Given the description of an element on the screen output the (x, y) to click on. 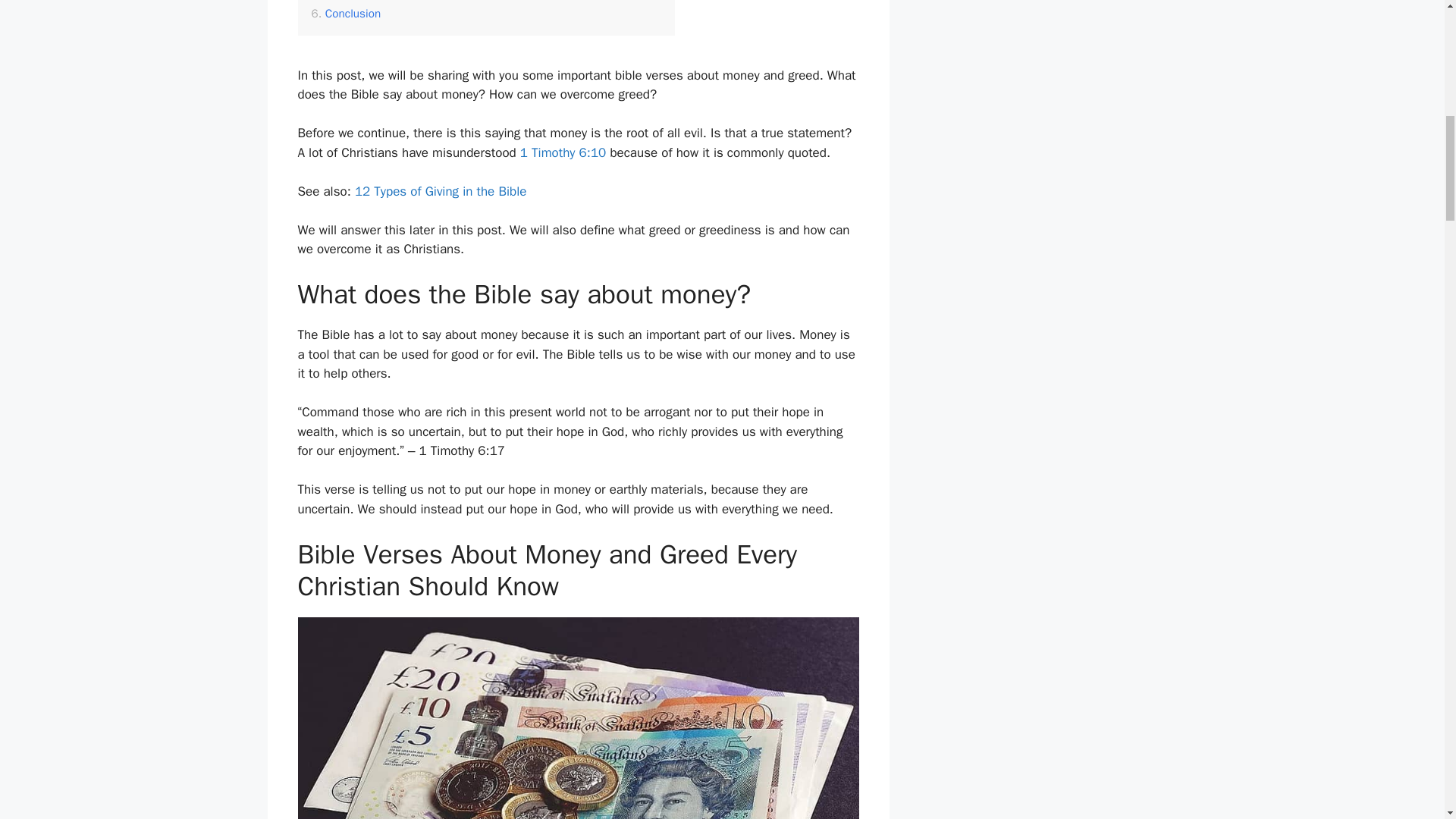
Is Greed A Sin? (357, 1)
12 Types of Giving in the Bible (440, 191)
1 Timothy 6:10 (562, 151)
Conclusion (345, 13)
Is Greed A Sin? (357, 1)
Conclusion (345, 13)
